Given the description of an element on the screen output the (x, y) to click on. 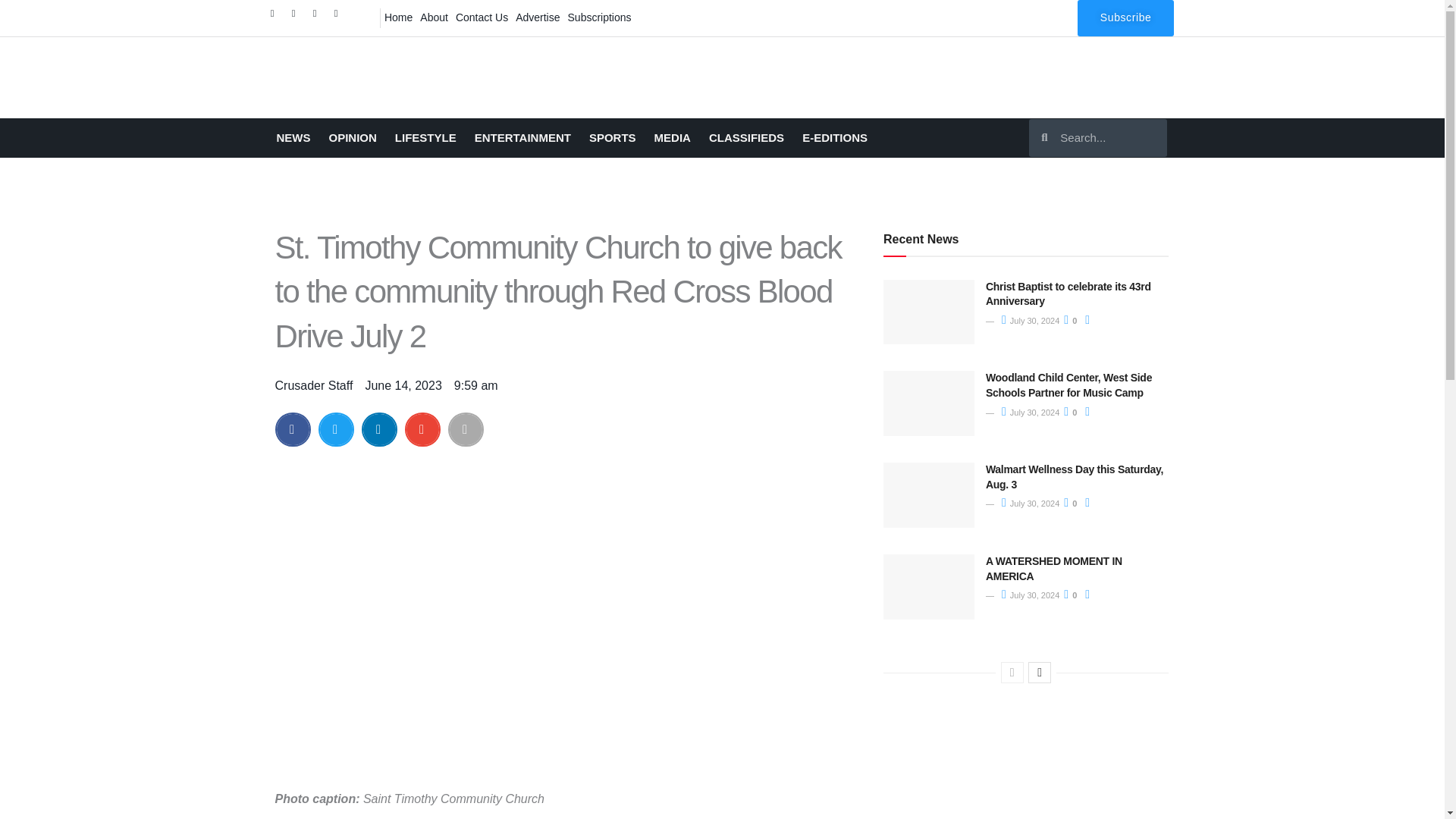
Twitter (297, 17)
NEWS (292, 137)
Instagram (318, 17)
About (433, 17)
Next (1039, 672)
Youtube (340, 17)
Previous (1012, 672)
Home (398, 17)
Contact Us (481, 17)
LIFESTYLE (425, 137)
Facebook-f (276, 17)
OPINION (352, 137)
ENTERTAINMENT (522, 137)
Subscribe (1125, 18)
Advertise (537, 17)
